Given the description of an element on the screen output the (x, y) to click on. 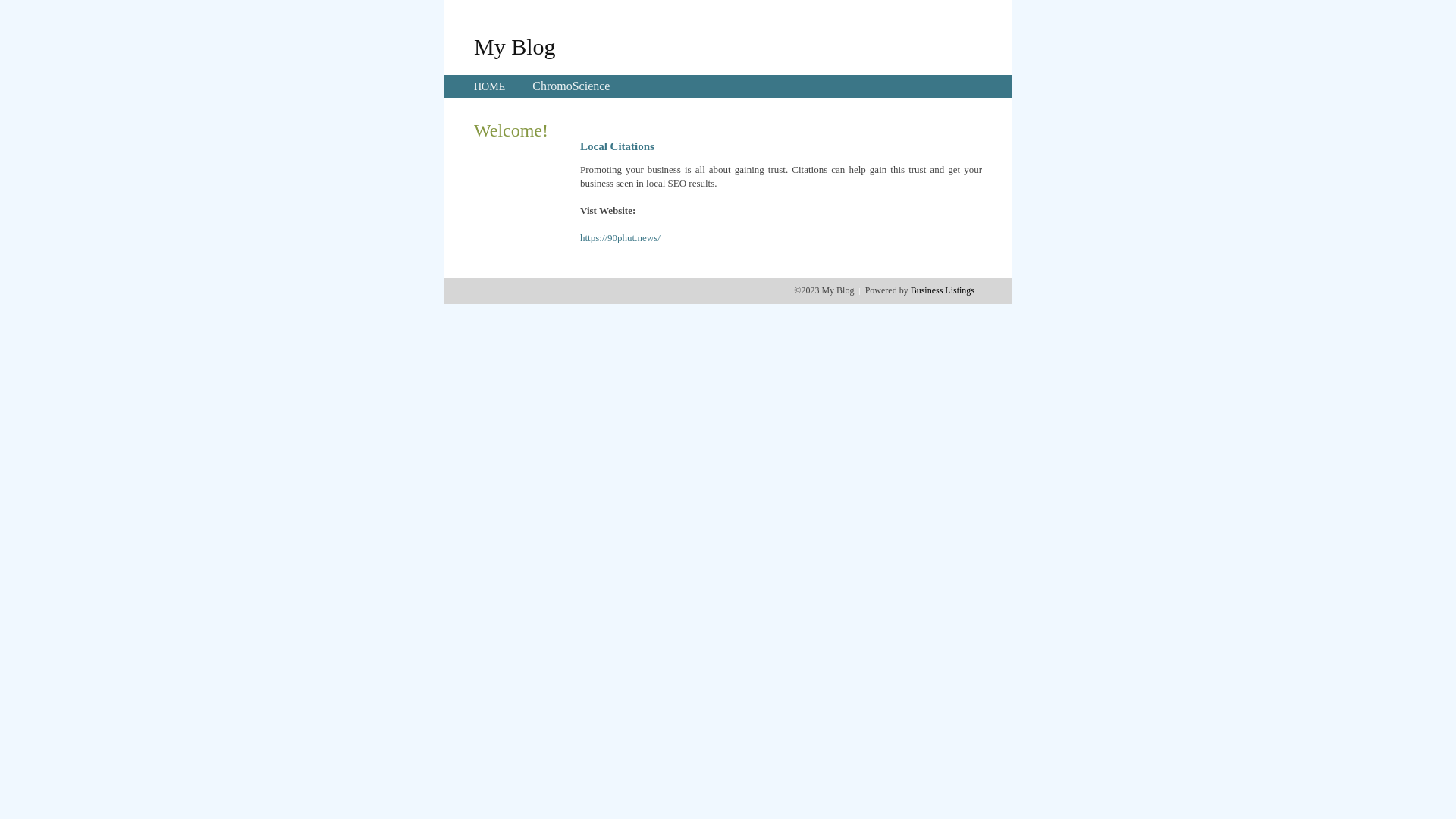
My Blog Element type: text (514, 46)
Business Listings Element type: text (942, 290)
HOME Element type: text (489, 86)
ChromoScience Element type: text (570, 85)
https://90phut.news/ Element type: text (620, 237)
